Given the description of an element on the screen output the (x, y) to click on. 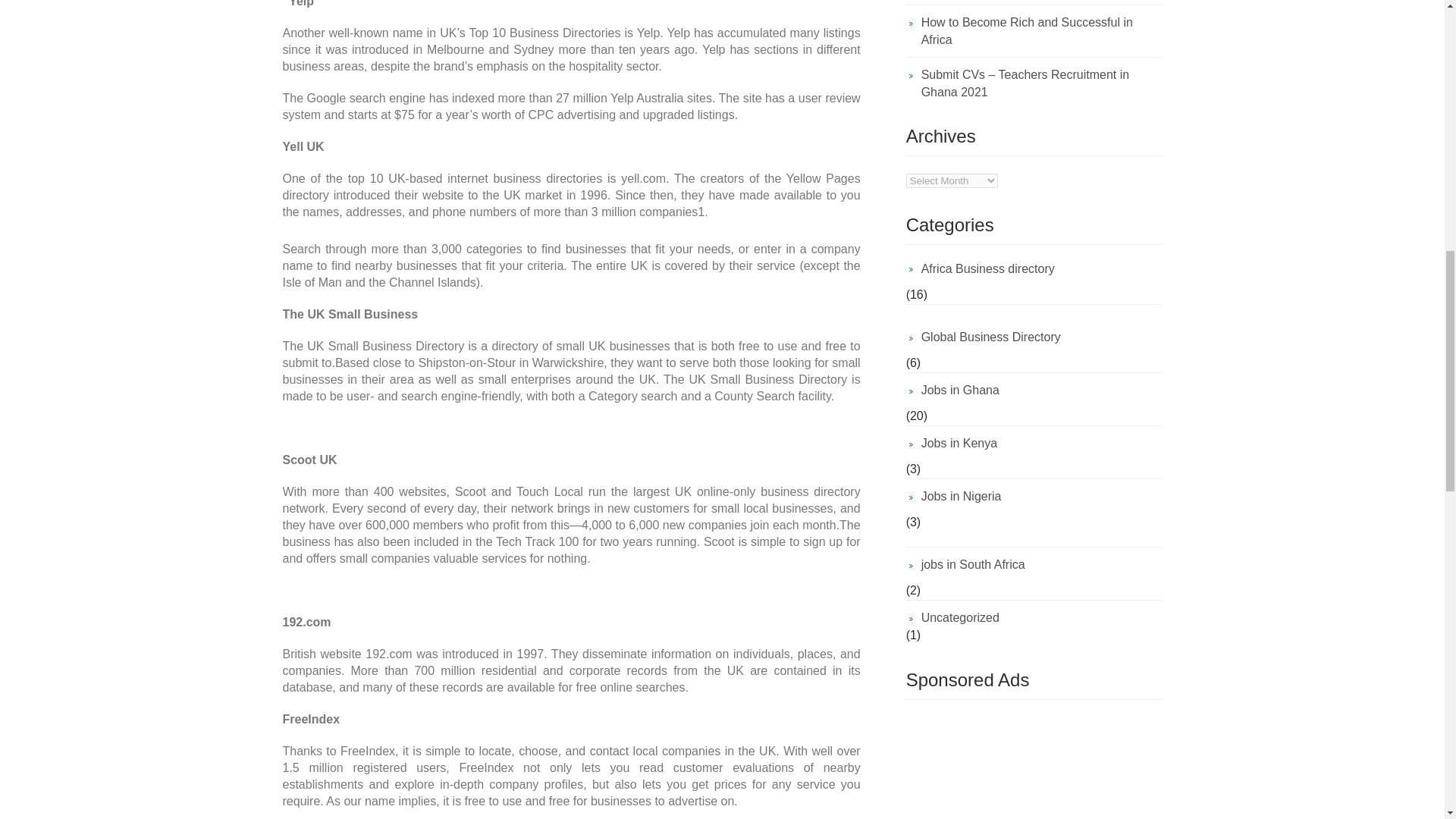
Jobs in Ghana (1033, 390)
Jobs in Kenya (1033, 442)
Top 10 Business Directories in Australia (1033, 2)
Jobs in Nigeria (1033, 496)
jobs in South Africa (1033, 564)
How to Become Rich and Successful in Africa (1033, 30)
Global Business Directory (1033, 336)
Africa Business directory (1033, 272)
Uncategorized (1033, 613)
